Given the description of an element on the screen output the (x, y) to click on. 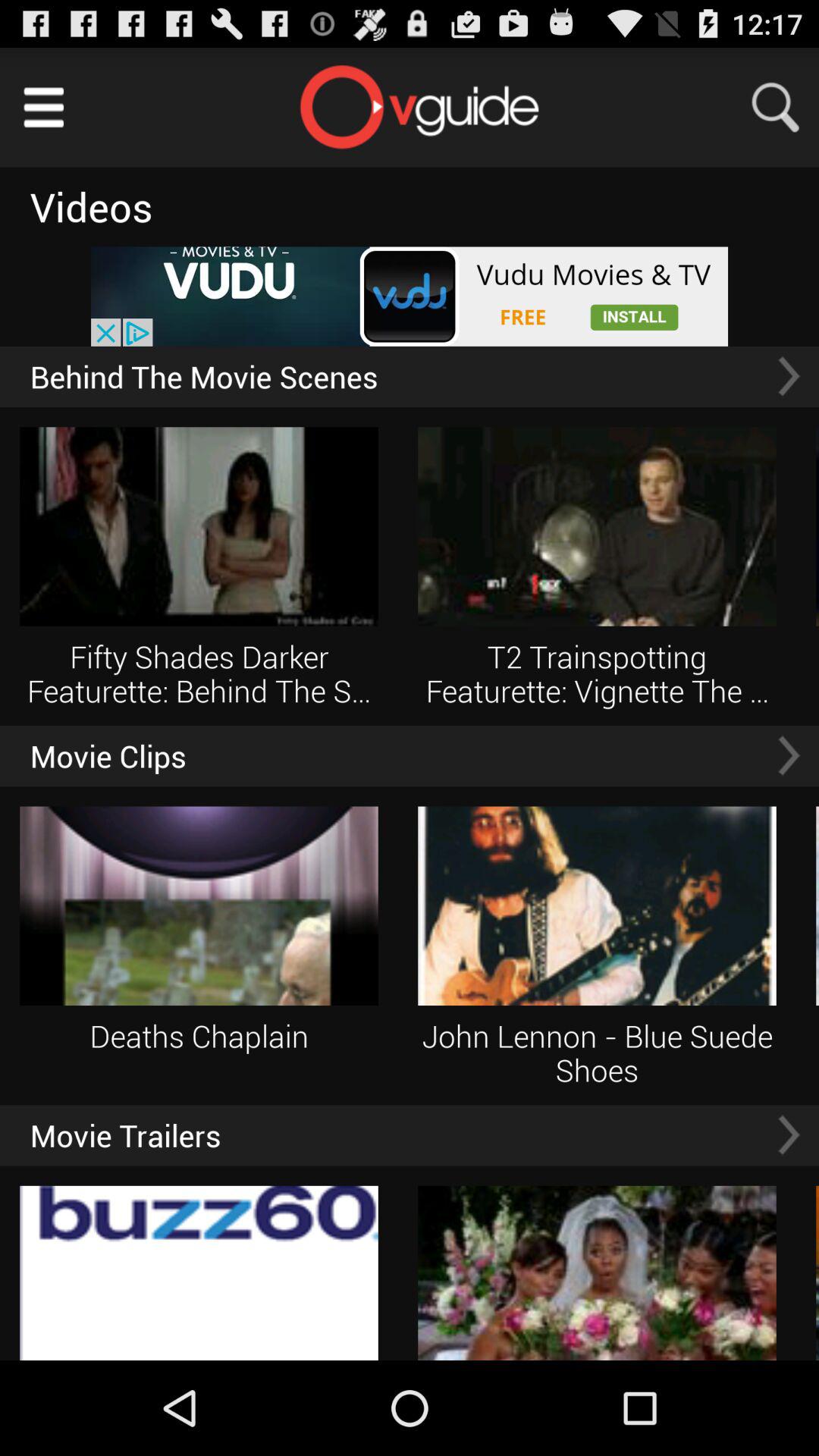
serch button (785, 107)
